Given the description of an element on the screen output the (x, y) to click on. 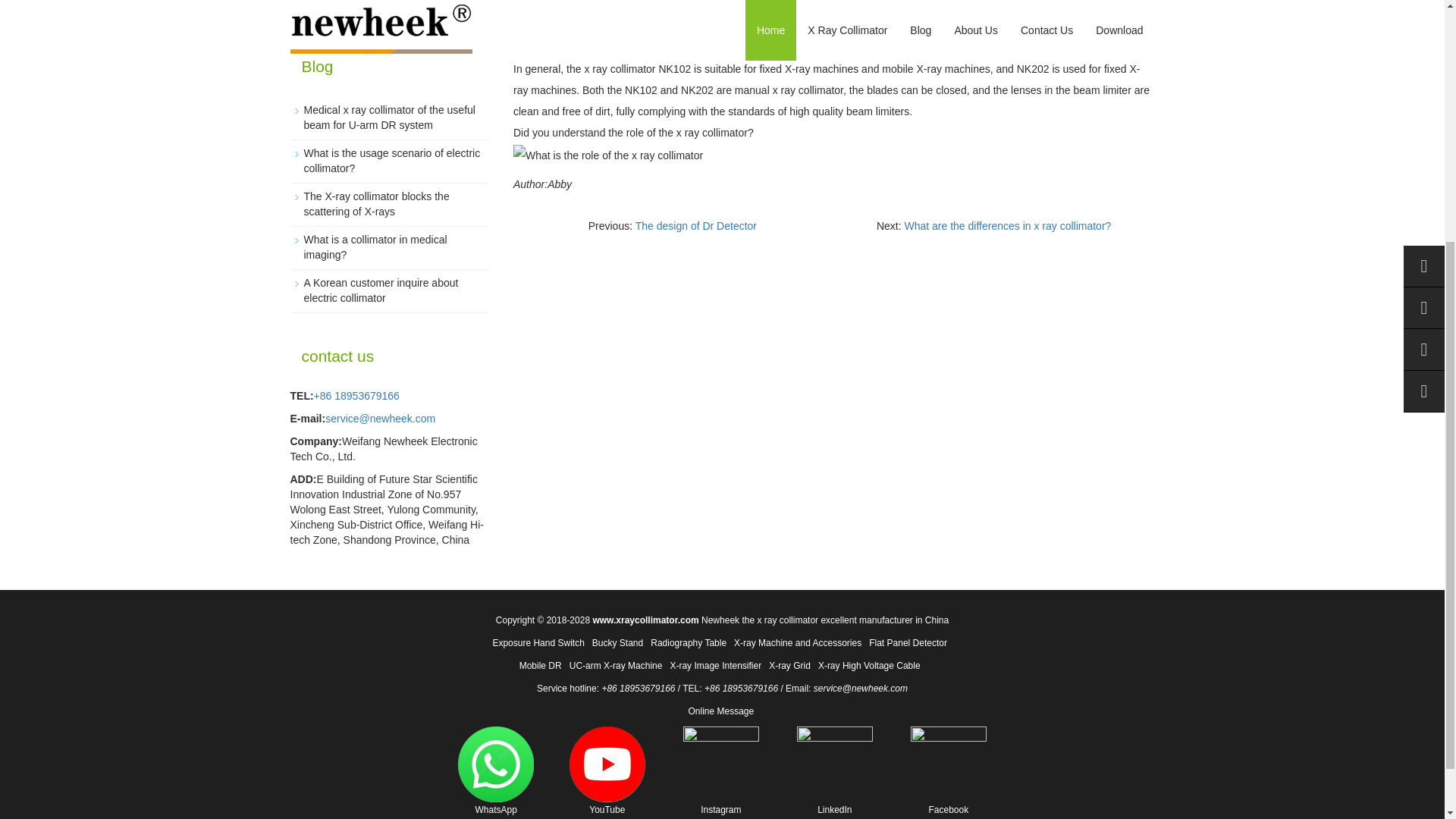
What is the usage scenario of electric collimator? (391, 160)
What is a collimator in medical imaging? (374, 247)
The design of Dr Detector (695, 225)
The X-ray collimator blocks the scattering of X-rays (375, 203)
What are the differences in x ray collimator? (1007, 225)
The X-ray collimator blocks the scattering of X-rays (375, 203)
A Korean customer inquire about electric collimator (380, 289)
What is the usage scenario of electric collimator? (391, 160)
What is a collimator in medical imaging? (374, 247)
Others X Ray Collimator (359, 11)
A Korean customer inquire about electric collimator (380, 289)
